Given the description of an element on the screen output the (x, y) to click on. 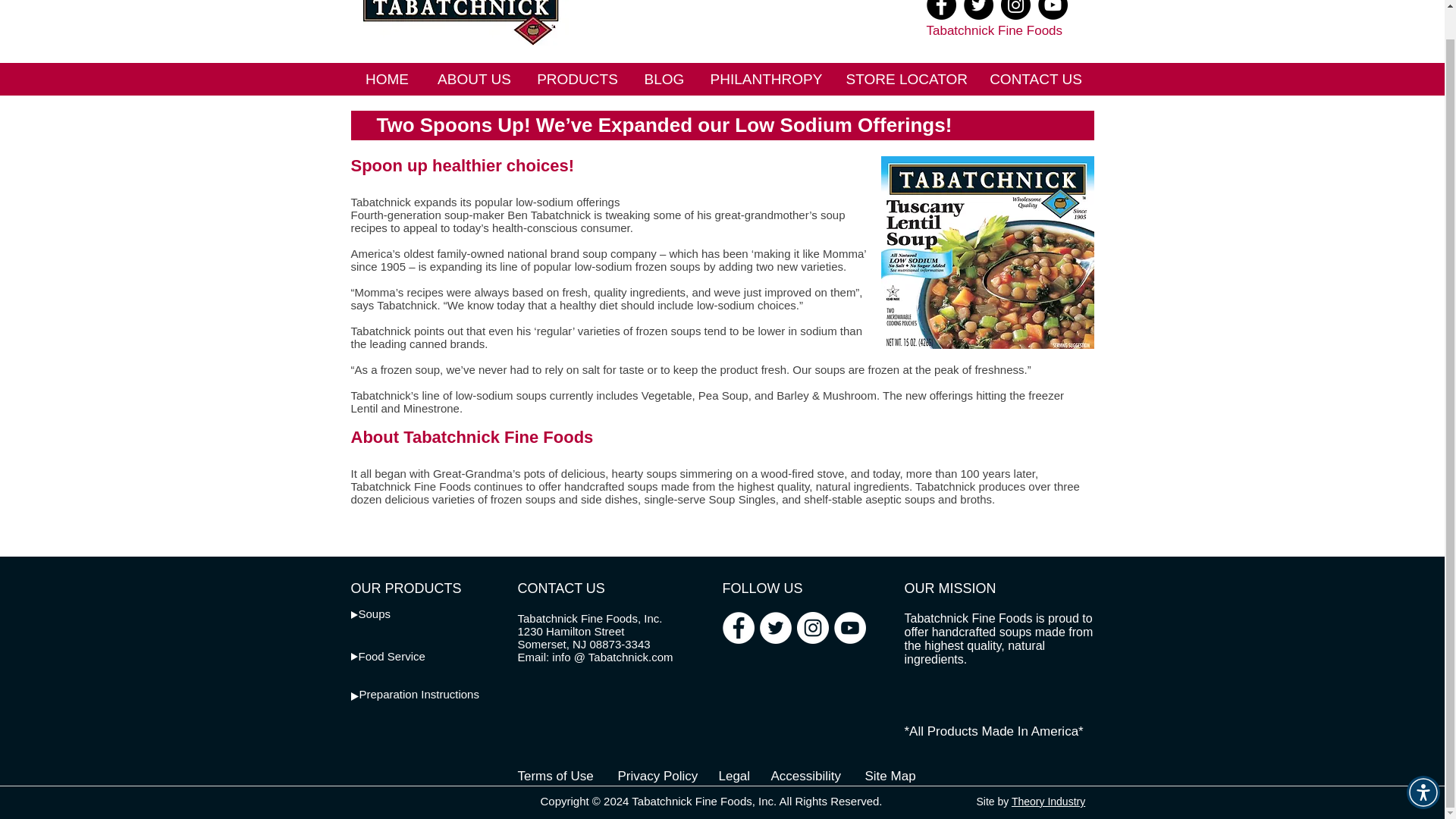
Terms of Use (554, 775)
ABOUT US (473, 79)
PRODUCTS (577, 79)
OUR MISSION (949, 588)
Accessibility (805, 775)
HOME (386, 79)
Site Map (889, 775)
Theory Industry (1047, 801)
Soups (374, 613)
Food Service (391, 656)
